Given the description of an element on the screen output the (x, y) to click on. 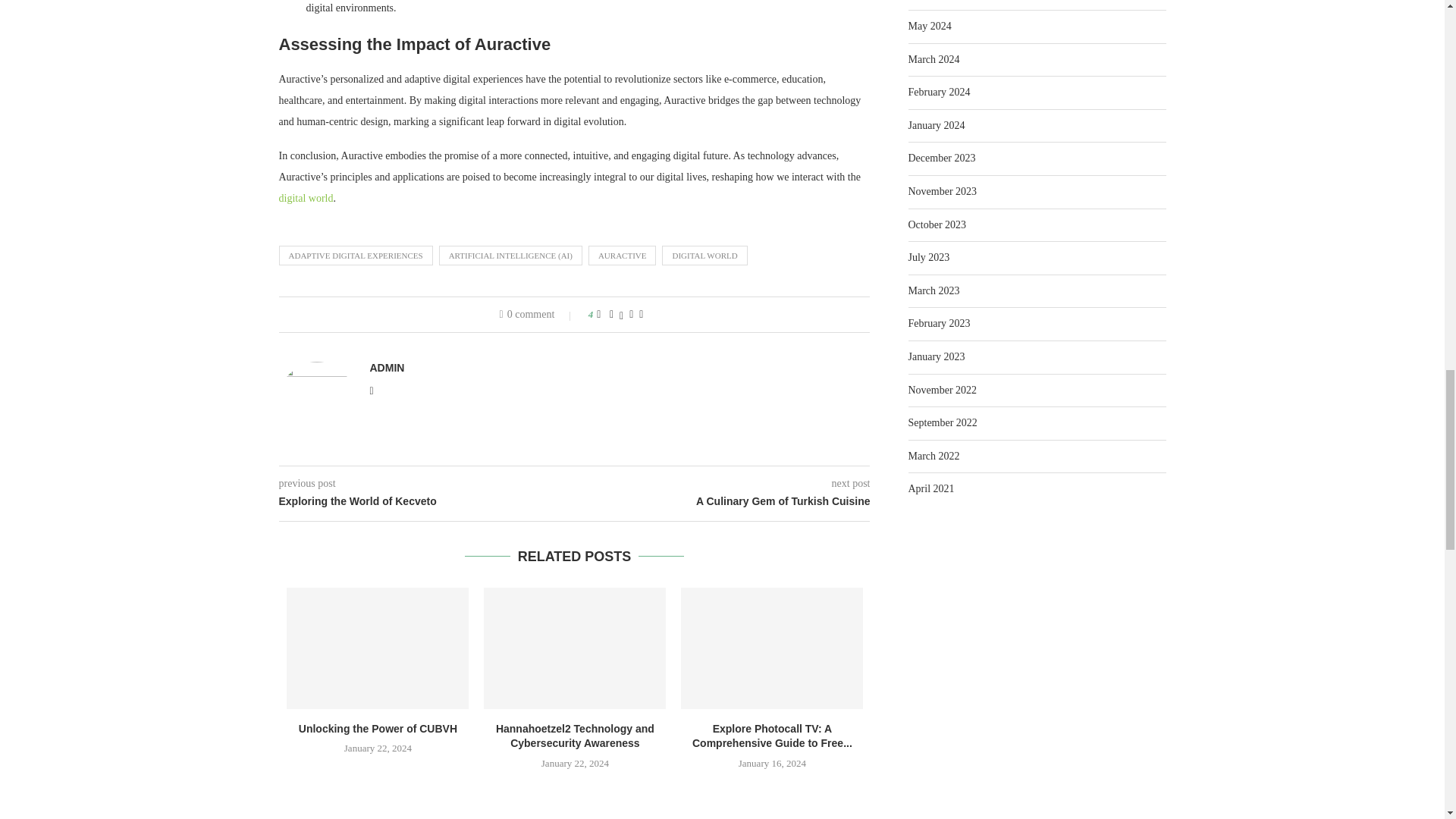
ADAPTIVE DIGITAL EXPERIENCES (355, 255)
A Culinary Gem of Turkish Cuisine (722, 501)
Exploring the World of Kecveto (427, 501)
AURACTIVE (622, 255)
Unlocking the Power of CUBVH (377, 648)
ADMIN (386, 367)
DIGITAL WORLD (704, 255)
Hannahoetzel2 Technology and Cybersecurity Awareness (574, 648)
Author admin (386, 367)
Like (597, 314)
digital world (306, 197)
